Given the description of an element on the screen output the (x, y) to click on. 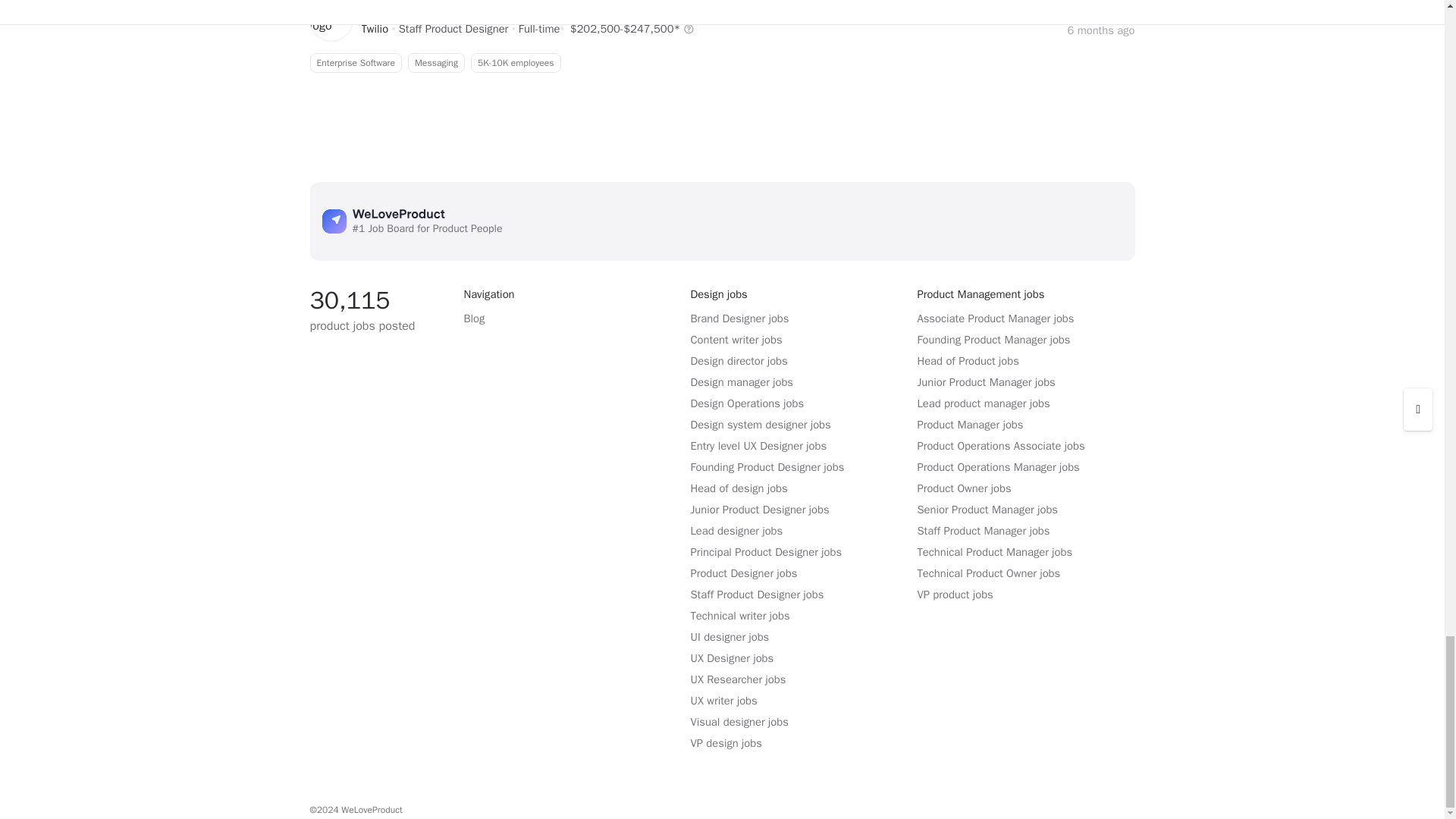
Staff Product Designer jobs at Twilio (374, 29)
Staff Product Designer jobs (721, 62)
